Given the description of an element on the screen output the (x, y) to click on. 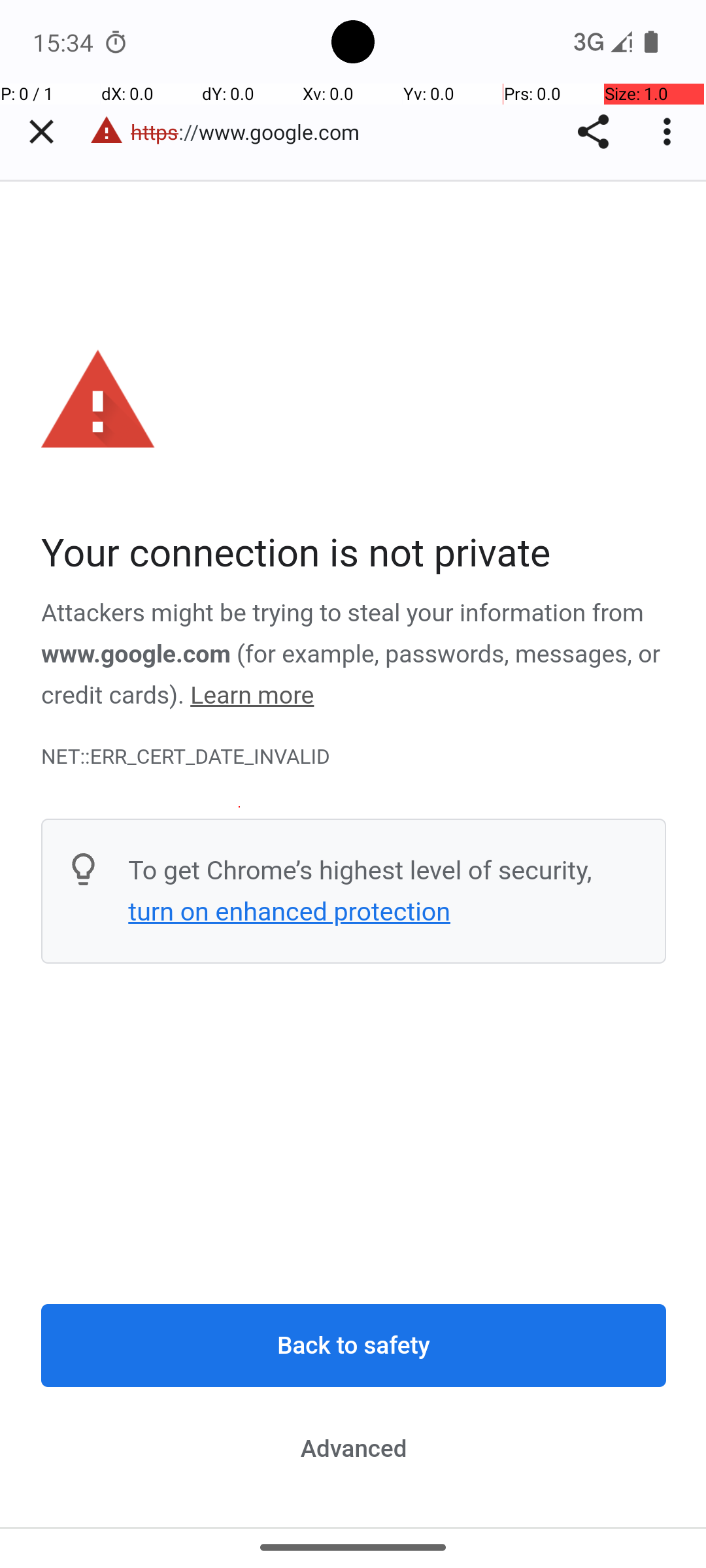
https://www.google.com Element type: android.widget.TextView (251, 131)
www.google.com Element type: android.widget.TextView (136, 653)
